Given the description of an element on the screen output the (x, y) to click on. 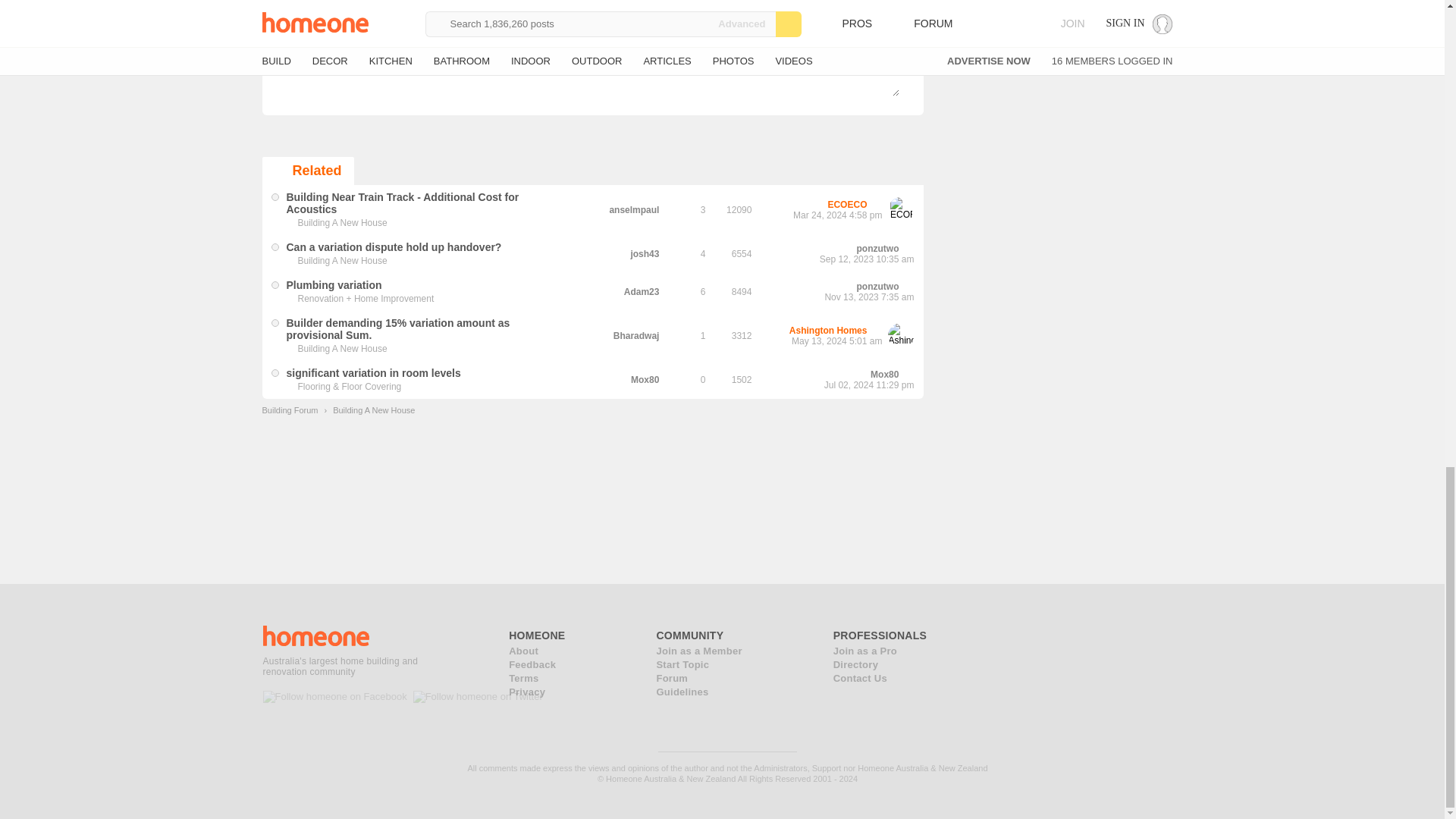
View the latest post (876, 204)
Posted: Mar 20, 2024 4:51 pm (402, 202)
Posted: Nov 09, 2023 12:11 pm (333, 285)
View the latest post (908, 248)
Posted: Sep 11, 2023 10:29 am (394, 246)
